Given the description of an element on the screen output the (x, y) to click on. 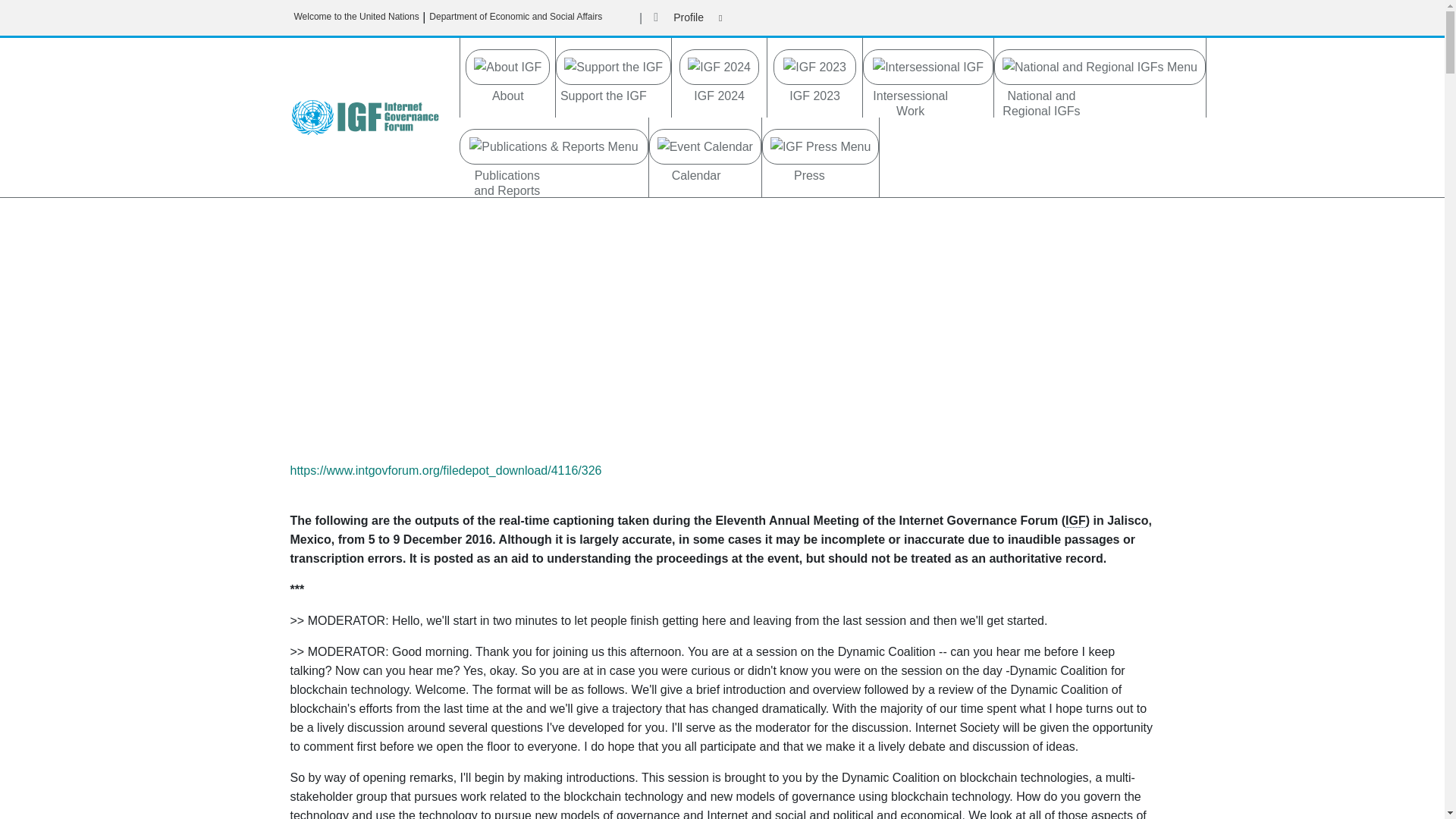
Internet Governance Forum  (1075, 520)
Welcome to the United Nations (356, 16)
Home (370, 117)
Department of Economic and Social Affairs (515, 16)
